Given the description of an element on the screen output the (x, y) to click on. 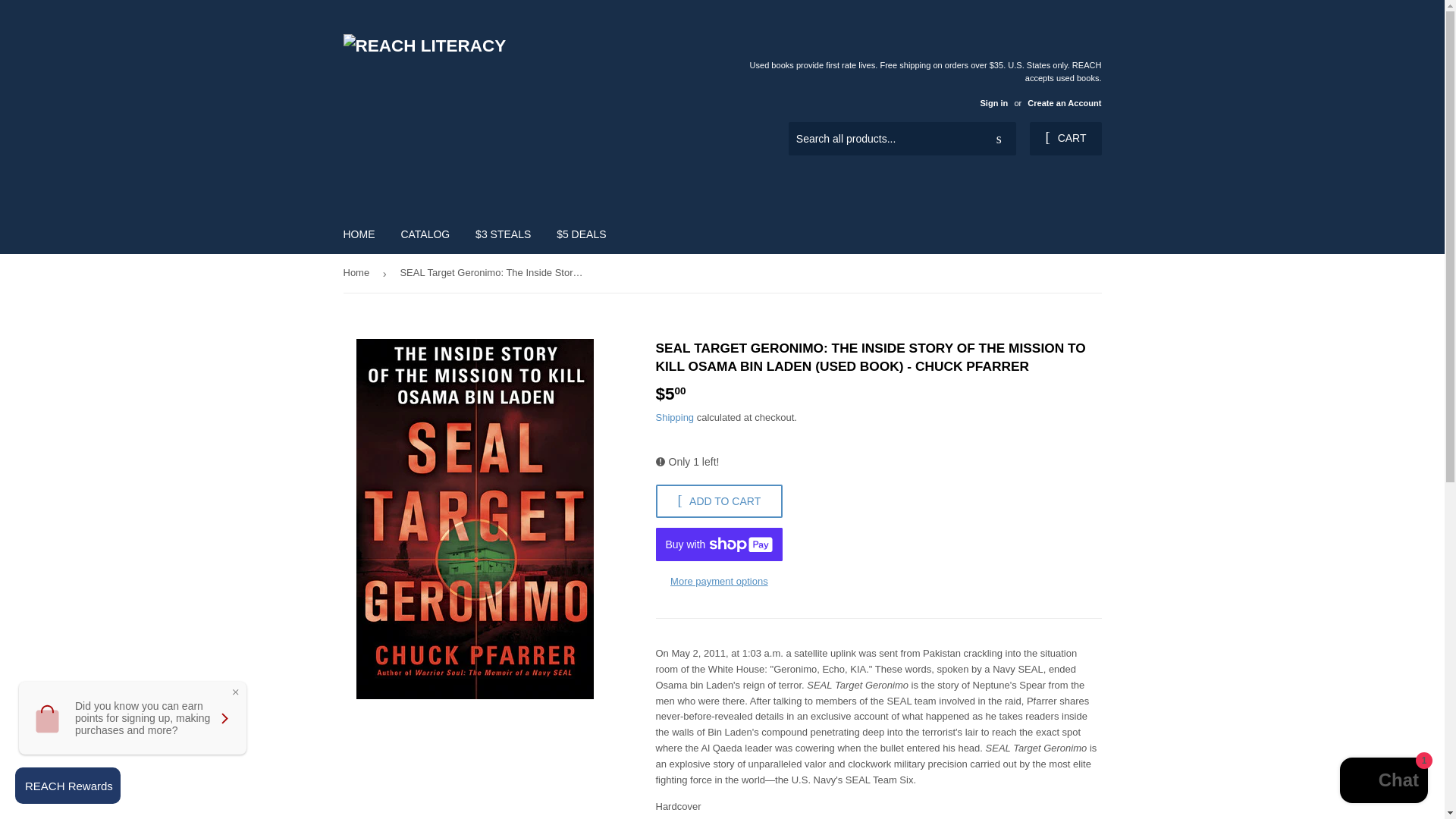
Home (358, 272)
CATALOG (424, 233)
LoyaltyLion beacon (67, 785)
Shopify online store chat (1383, 781)
HOME (359, 233)
Sign in (993, 102)
Search (998, 139)
CART (1064, 138)
ADD TO CART (719, 500)
Back to the frontpage (358, 272)
Shipping (674, 417)
More payment options (719, 581)
Create an Account (1063, 102)
